Given the description of an element on the screen output the (x, y) to click on. 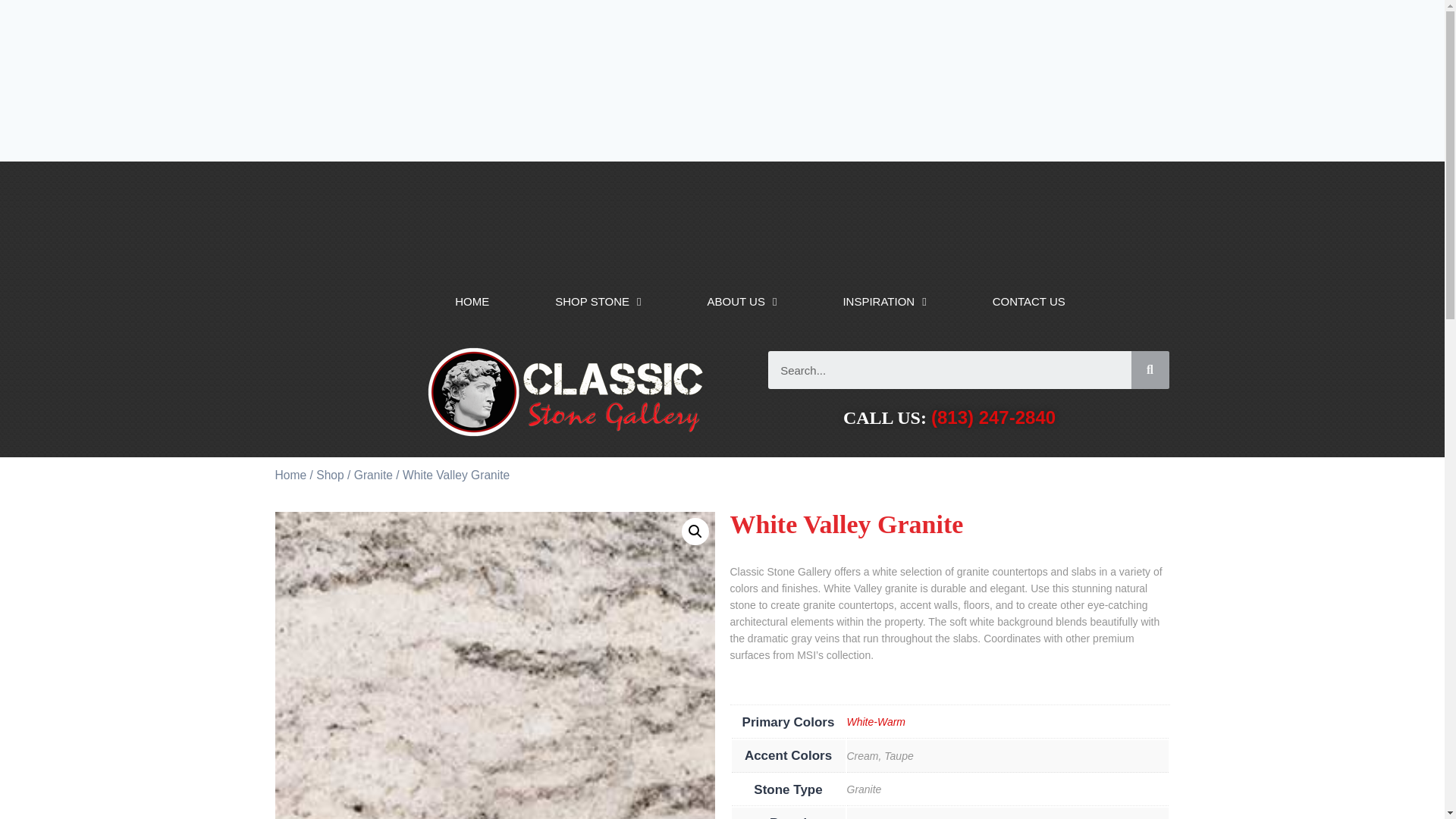
CONTACT US (1028, 296)
INSPIRATION (884, 296)
SHOP STONE (598, 296)
Search (1150, 370)
ABOUT US (742, 296)
HOME (472, 296)
Search (949, 370)
